Given the description of an element on the screen output the (x, y) to click on. 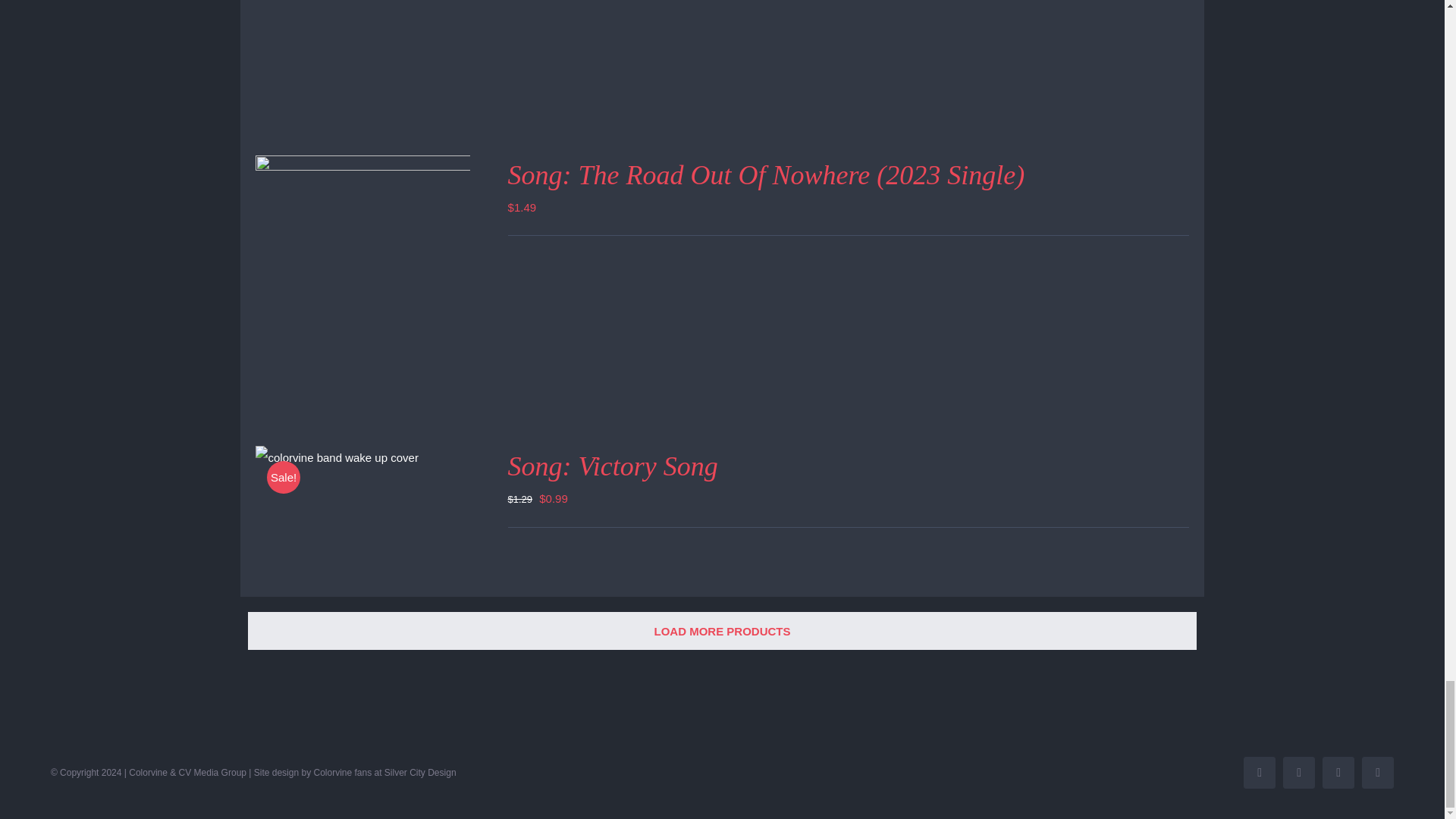
YouTube (1298, 772)
Instagram (1338, 772)
Vimeo (1377, 772)
Facebook (1259, 772)
